Given the description of an element on the screen output the (x, y) to click on. 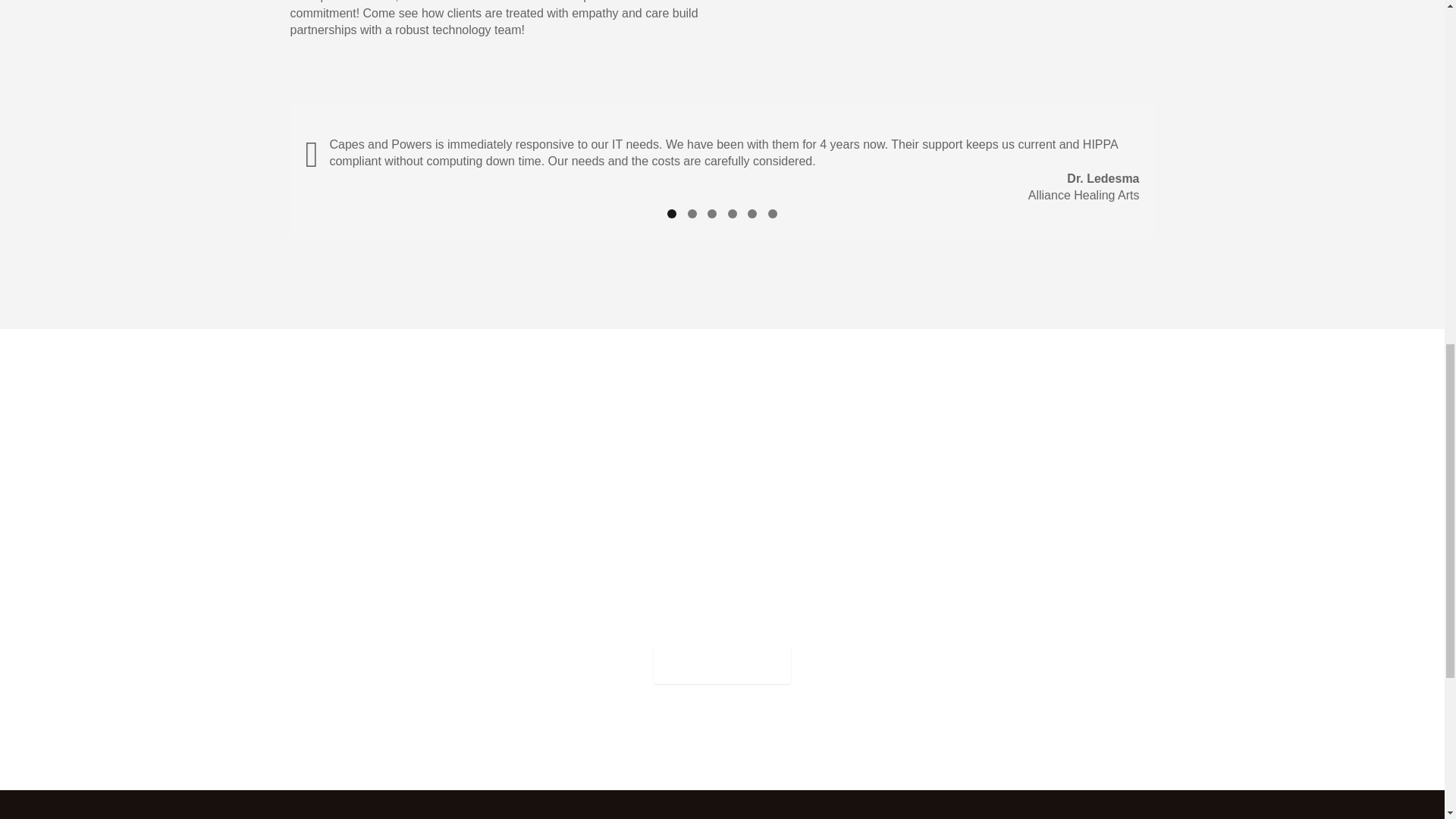
Contact Us (721, 665)
